Given the description of an element on the screen output the (x, y) to click on. 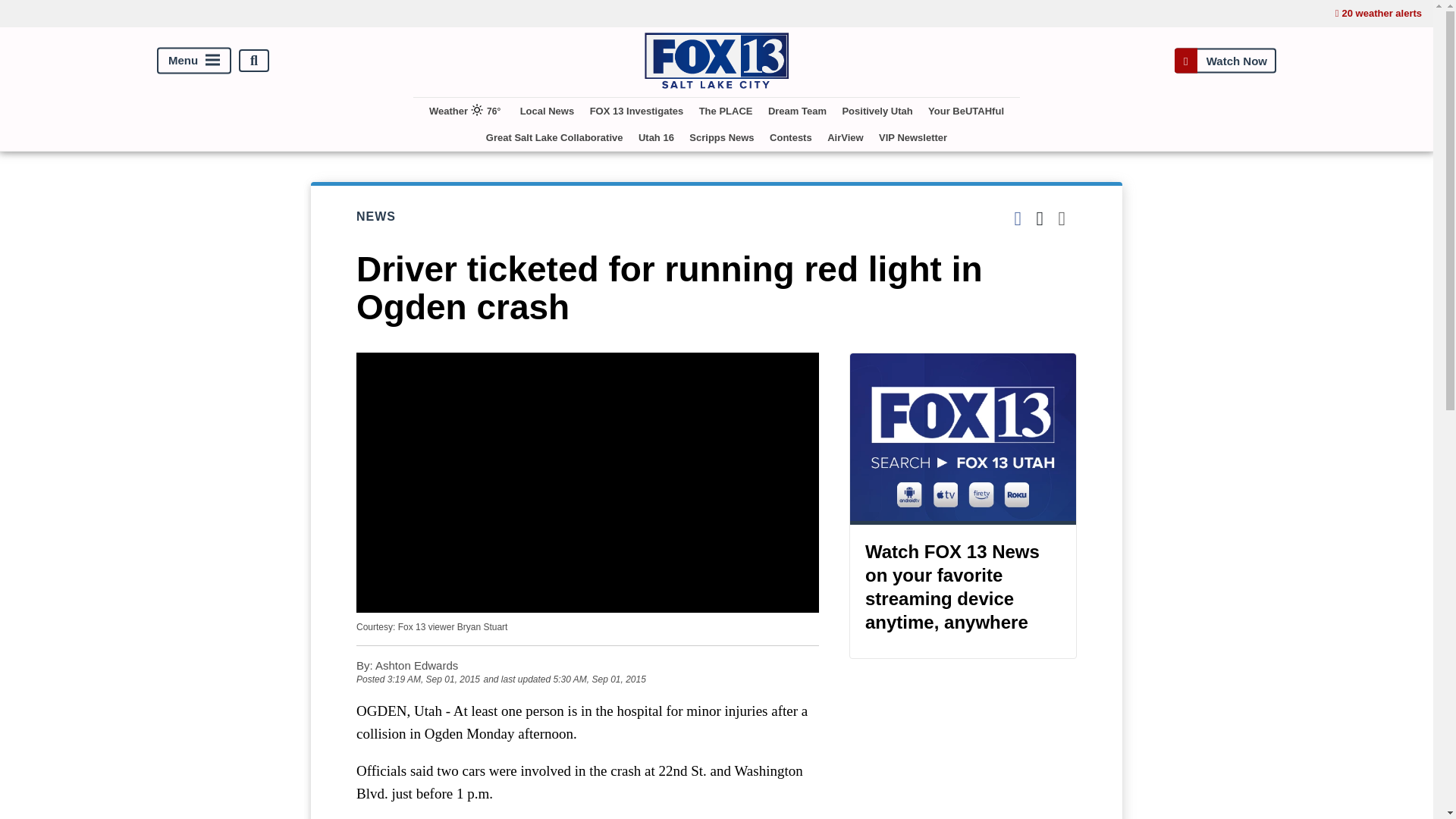
Watch Now (1224, 60)
Menu (194, 60)
